Given the description of an element on the screen output the (x, y) to click on. 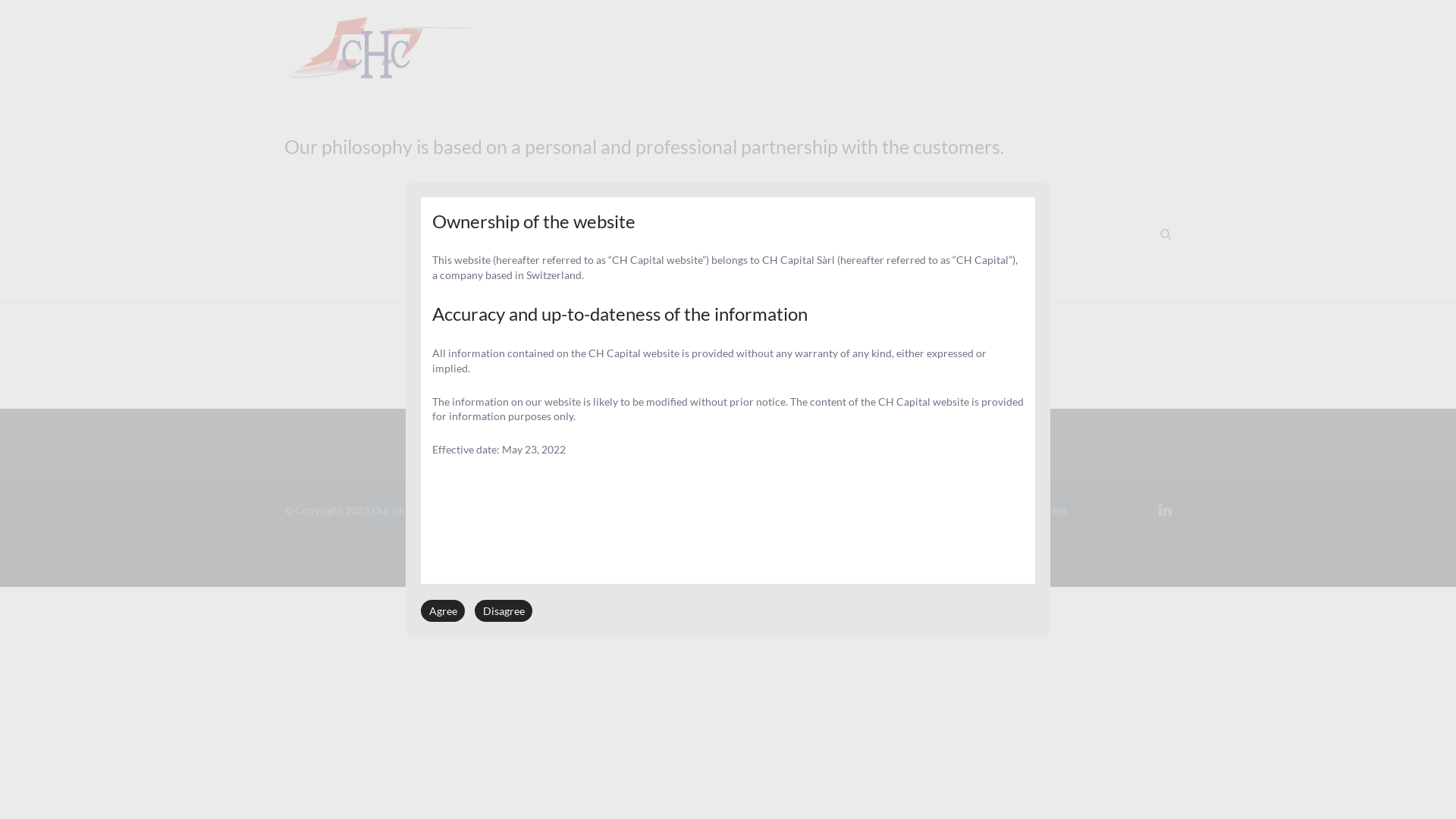
WordPress Element type: text (1039, 509)
CONTACT Element type: text (625, 267)
DEUTSCH Element type: text (719, 267)
Deutsch Element type: hover (693, 270)
Disagree Element type: text (503, 610)
MotoPress Element type: text (878, 509)
Agree Element type: text (442, 610)
LinkedIn Element type: hover (1164, 509)
